Given the description of an element on the screen output the (x, y) to click on. 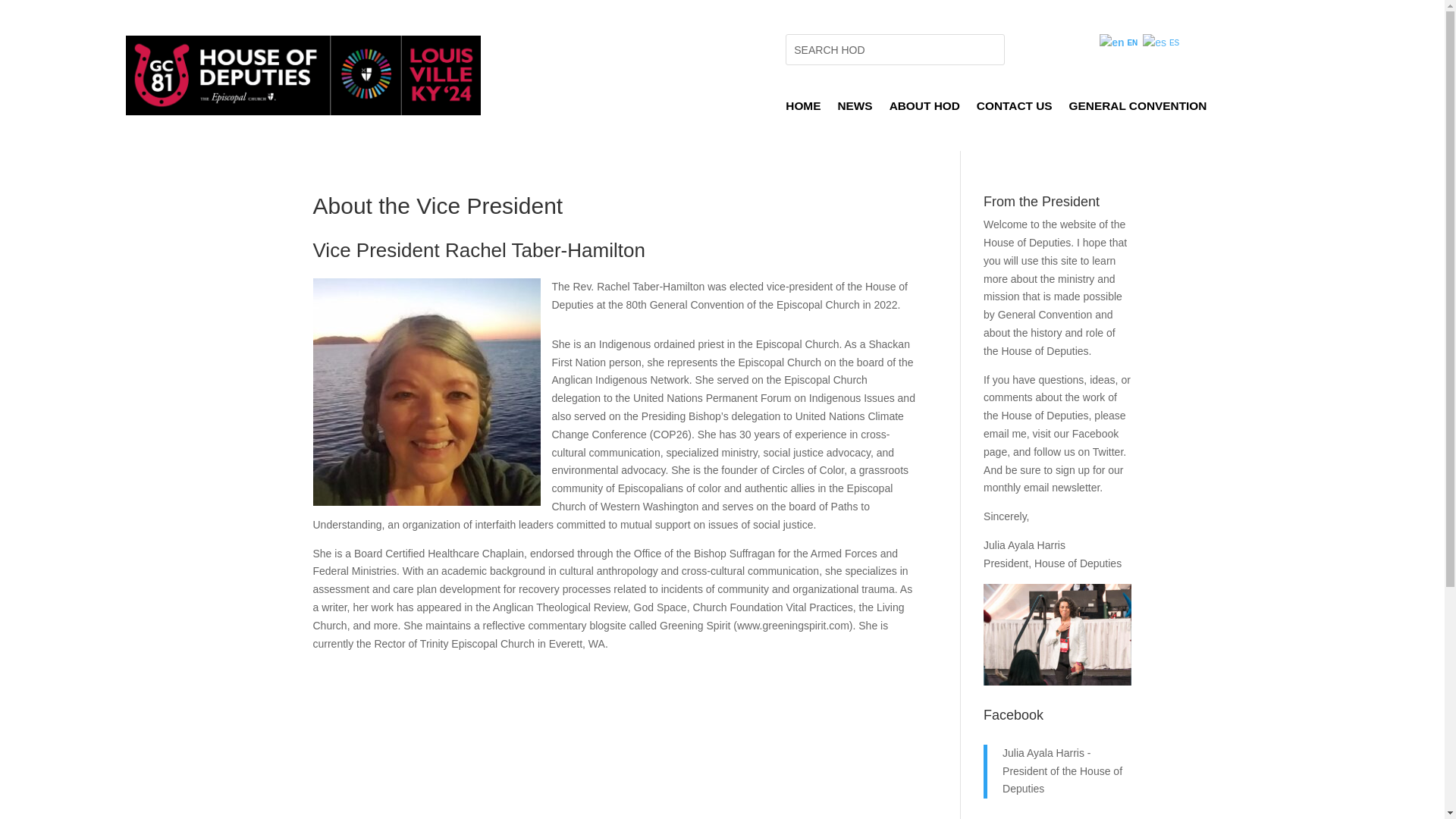
EN (1119, 42)
Twitter (1107, 451)
GC-Logo-2024-HOD-Horizontal (302, 75)
Search (24, 14)
English (1119, 42)
Facebook page (1051, 442)
ABOUT HOD (924, 108)
CONTACT US (1014, 108)
Julia Ayala Harris - President of the House of Deputies (1062, 770)
NEWS (854, 108)
email me (1005, 433)
sign up (1072, 469)
GENERAL CONVENTION (1137, 108)
ES (1161, 42)
HOME (803, 108)
